Given the description of an element on the screen output the (x, y) to click on. 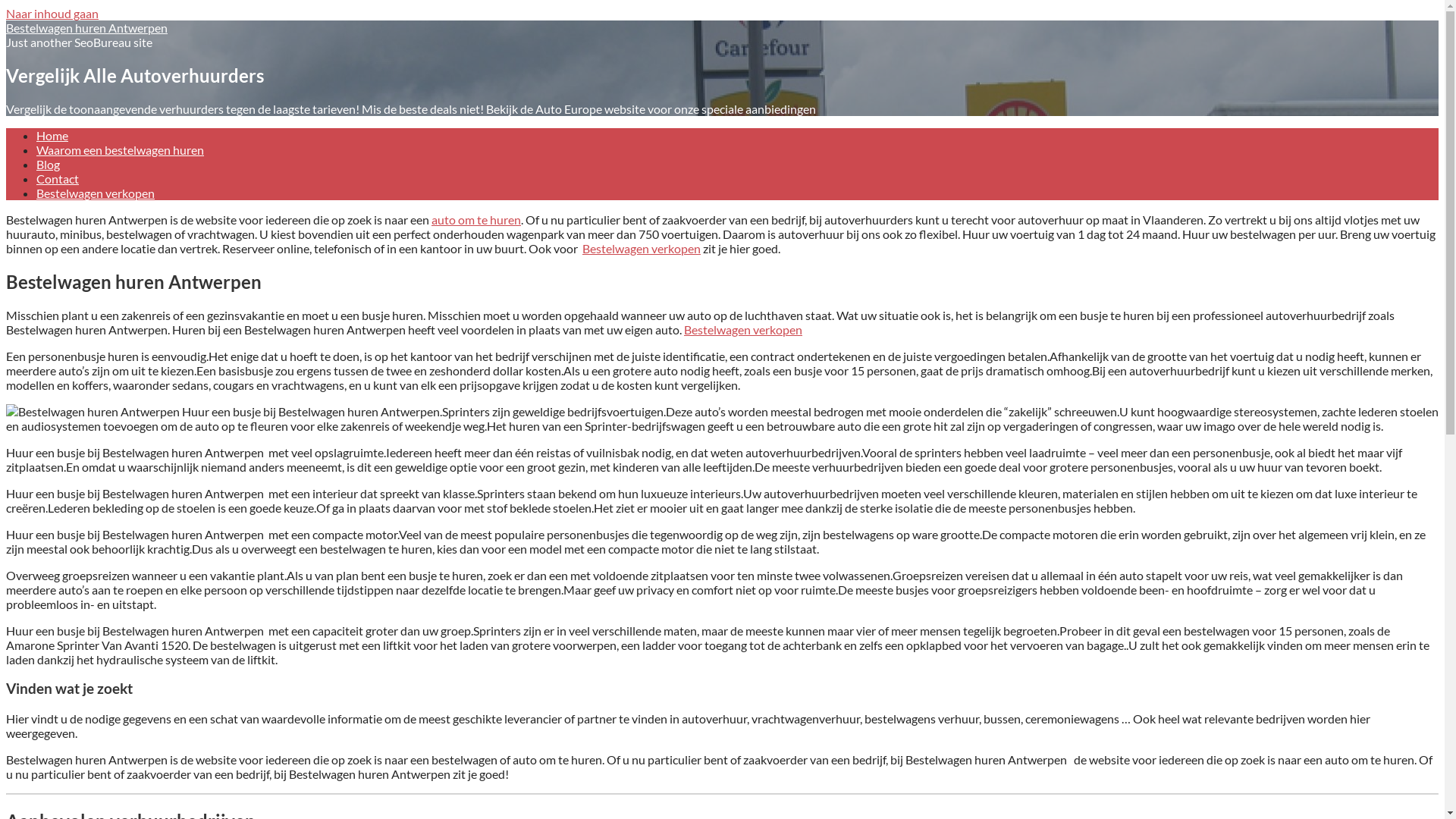
Contact Element type: text (57, 178)
Bestelwagen huren Antwerpen Element type: text (86, 27)
Blog Element type: text (47, 163)
auto om te huren Element type: text (475, 219)
Bestelwagen verkopen Element type: text (641, 248)
Naar inhoud gaan Element type: text (52, 13)
Home Element type: text (52, 135)
Bestelwagen verkopen Element type: text (95, 192)
Waarom een bestelwagen huren Element type: text (119, 149)
Bestelwagen verkopen Element type: text (743, 329)
